Given the description of an element on the screen output the (x, y) to click on. 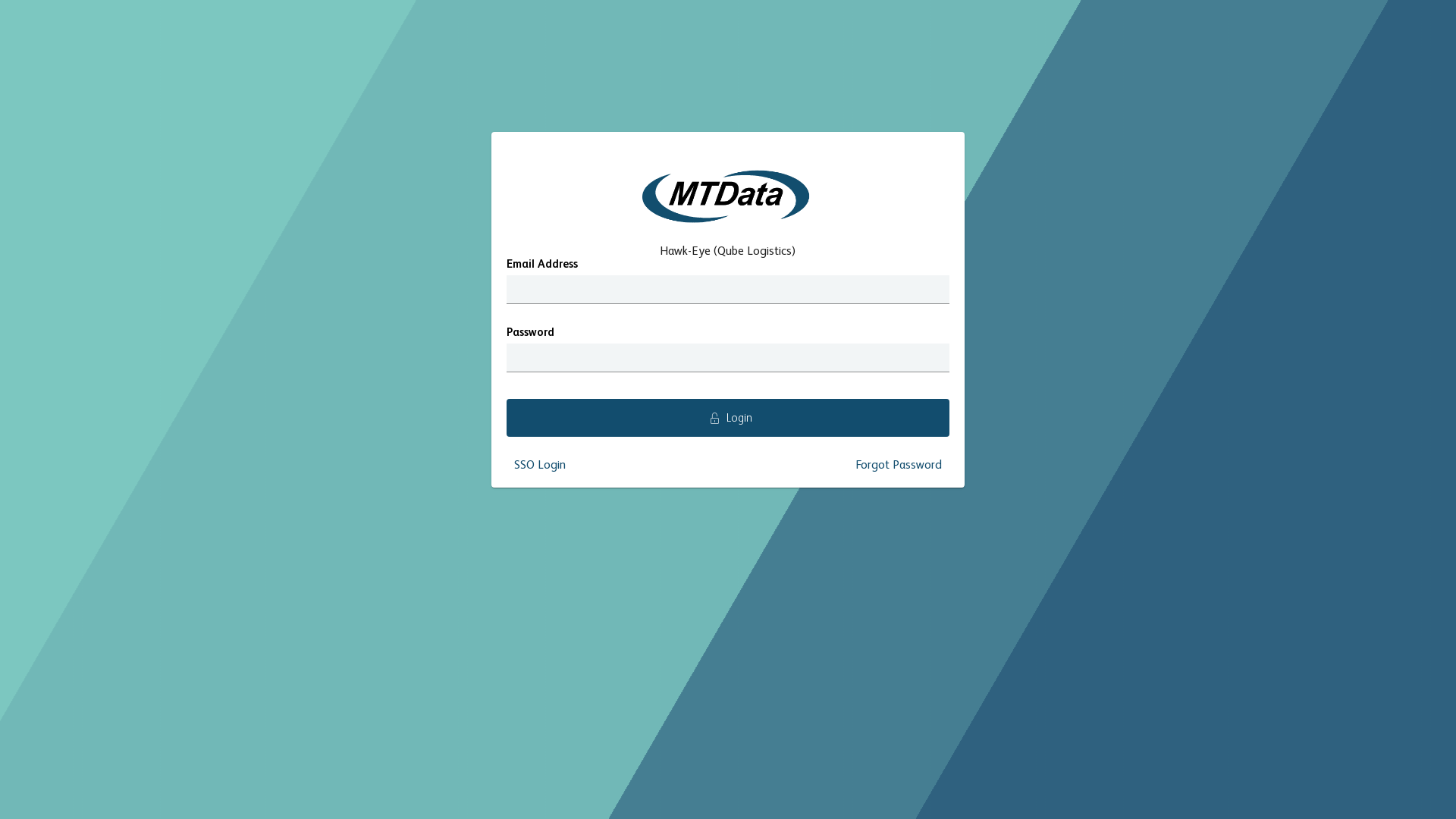
Login Element type: text (727, 417)
Forgot Password Element type: text (898, 465)
SSO Login Element type: text (539, 465)
